Given the description of an element on the screen output the (x, y) to click on. 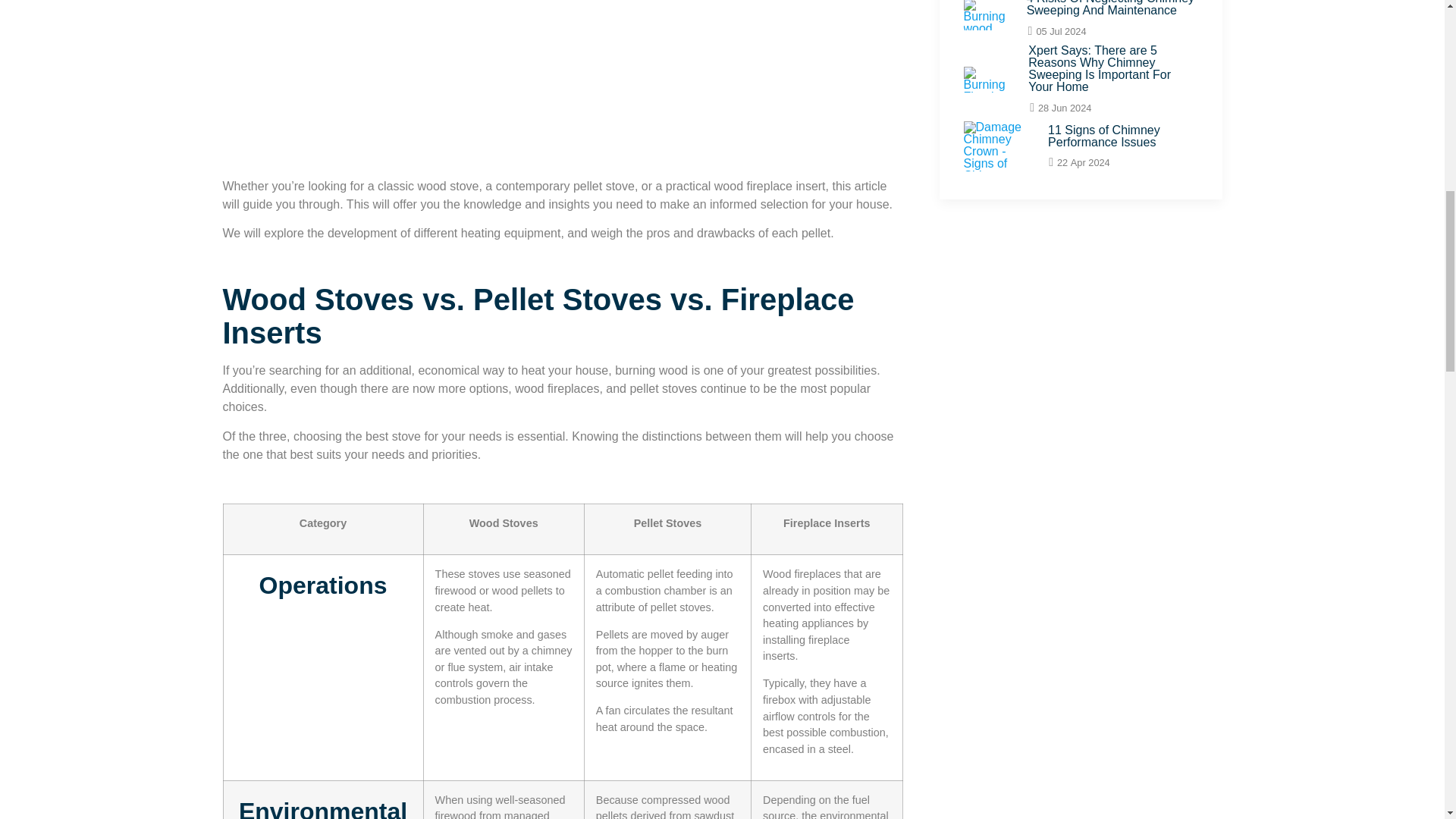
11 signs of chimney performance issues 6 (997, 145)
4 risks of neglecting chimney sweeping and maintenance 4 (986, 15)
